Given the description of an element on the screen output the (x, y) to click on. 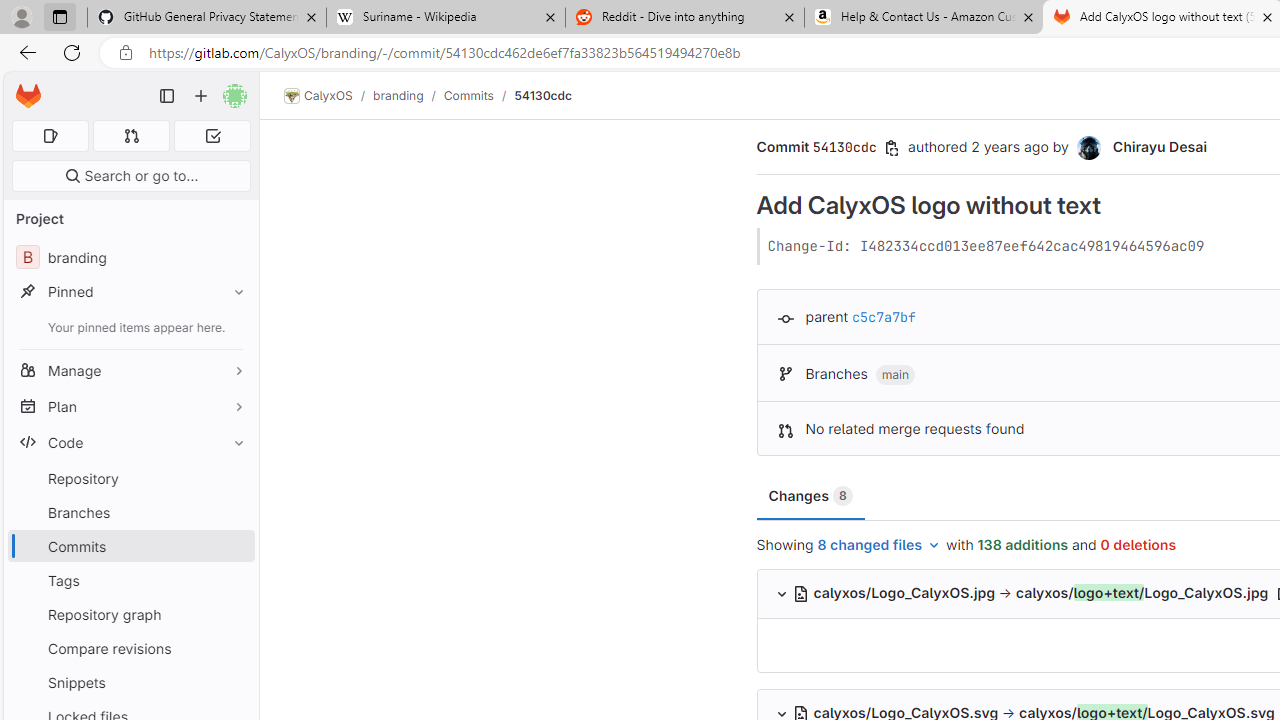
Snippets (130, 682)
Merge requests 0 (131, 136)
Pin Repository graph (234, 614)
c5c7a7bf (884, 317)
Primary navigation sidebar (167, 96)
Snippets (130, 682)
Commits (468, 95)
Suriname - Wikipedia (445, 17)
Compare revisions (130, 648)
CalyxOS/ (328, 96)
Tags (130, 579)
